Given the description of an element on the screen output the (x, y) to click on. 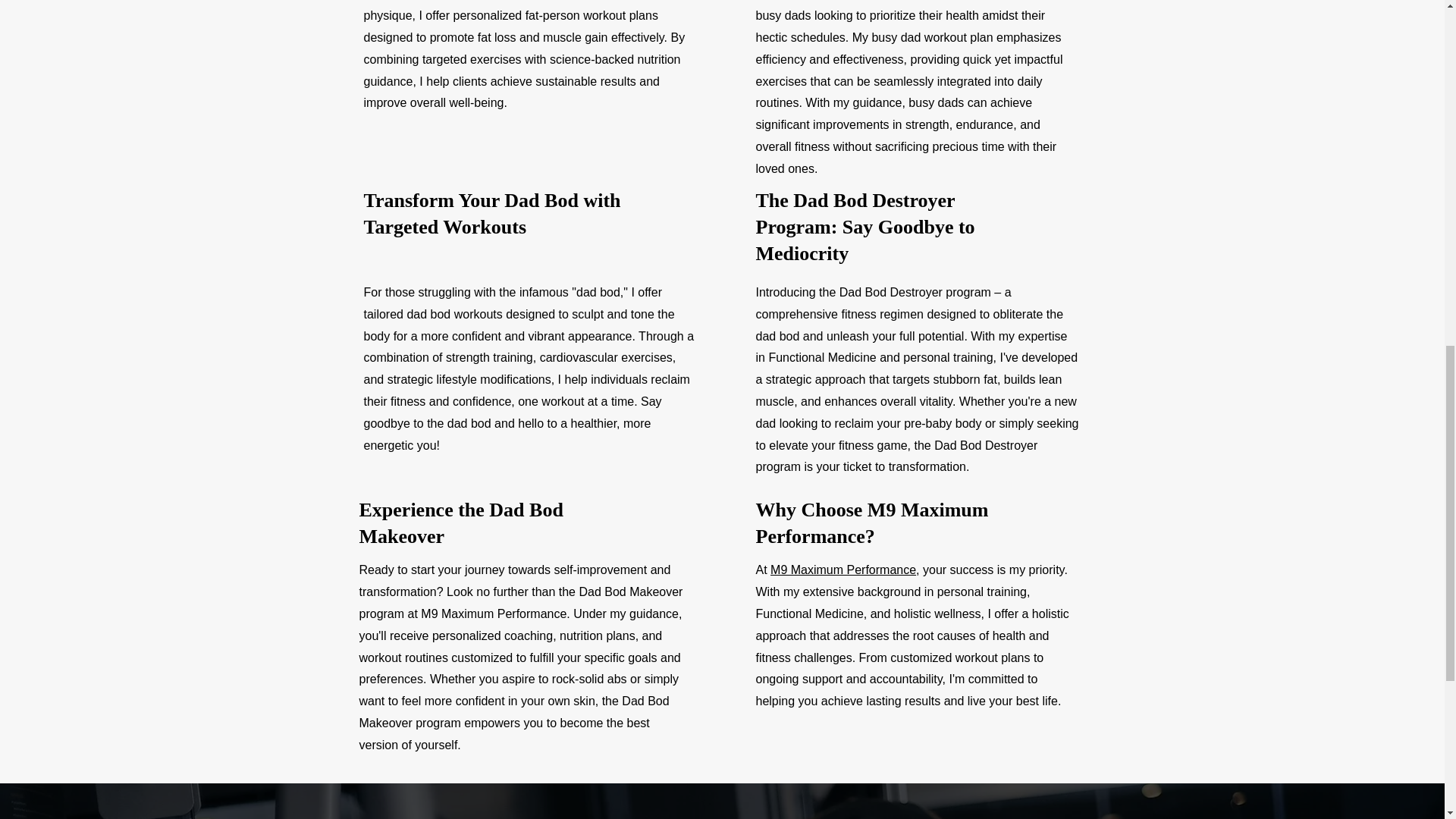
M9 Maximum Performance (842, 569)
